Given the description of an element on the screen output the (x, y) to click on. 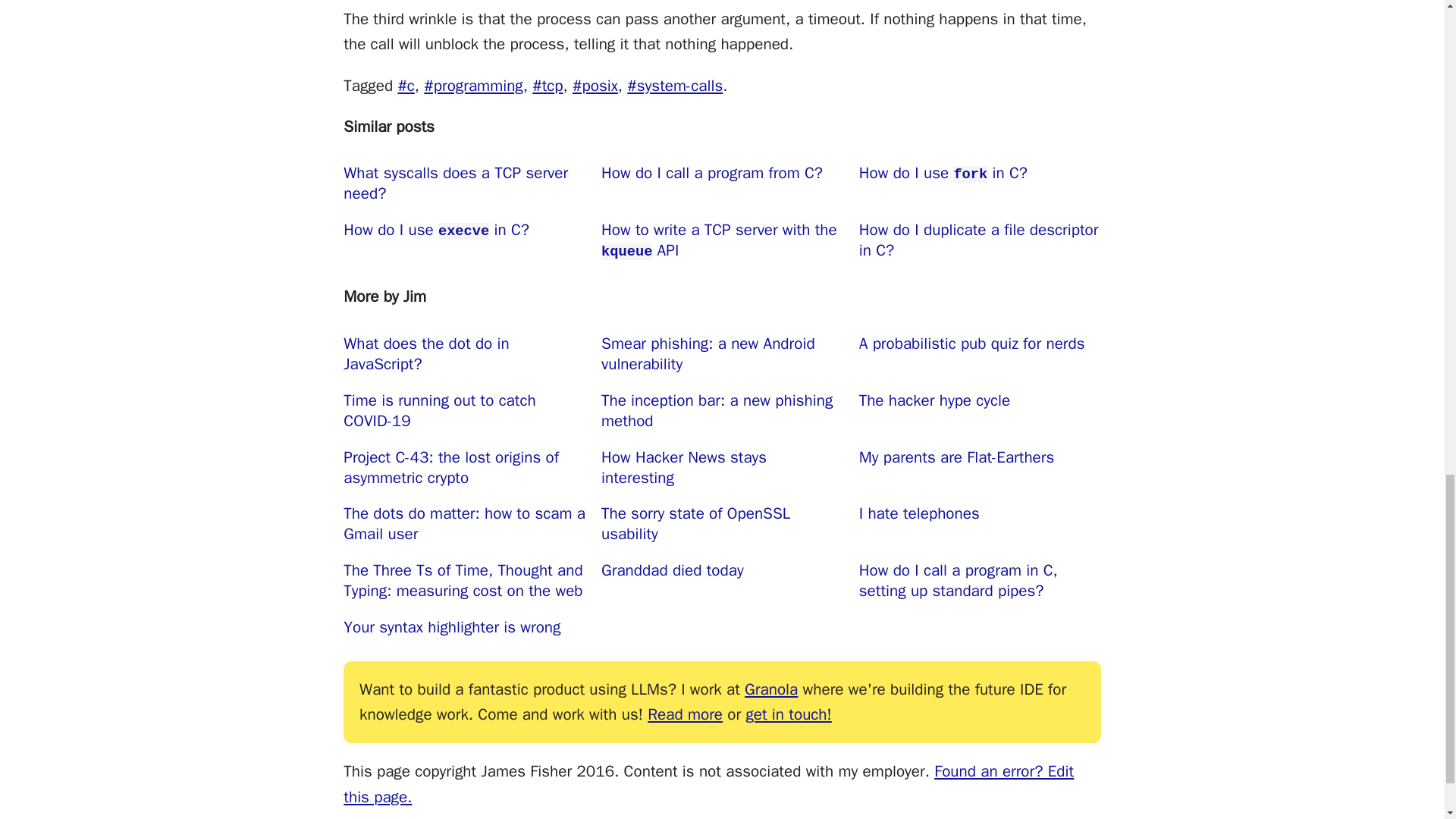
Smear phishing: a new Android vulnerability (722, 354)
How do I use fork in C? (979, 183)
My parents are Flat-Earthers (979, 467)
What syscalls does a TCP server need? (464, 183)
How do I use execve in C? (464, 240)
The inception bar: a new phishing method (722, 410)
What does the dot do in JavaScript? (464, 354)
How to write a TCP server with the kqueue API (722, 240)
Project C-43: the lost origins of asymmetric crypto (464, 467)
Read more (684, 713)
